Given the description of an element on the screen output the (x, y) to click on. 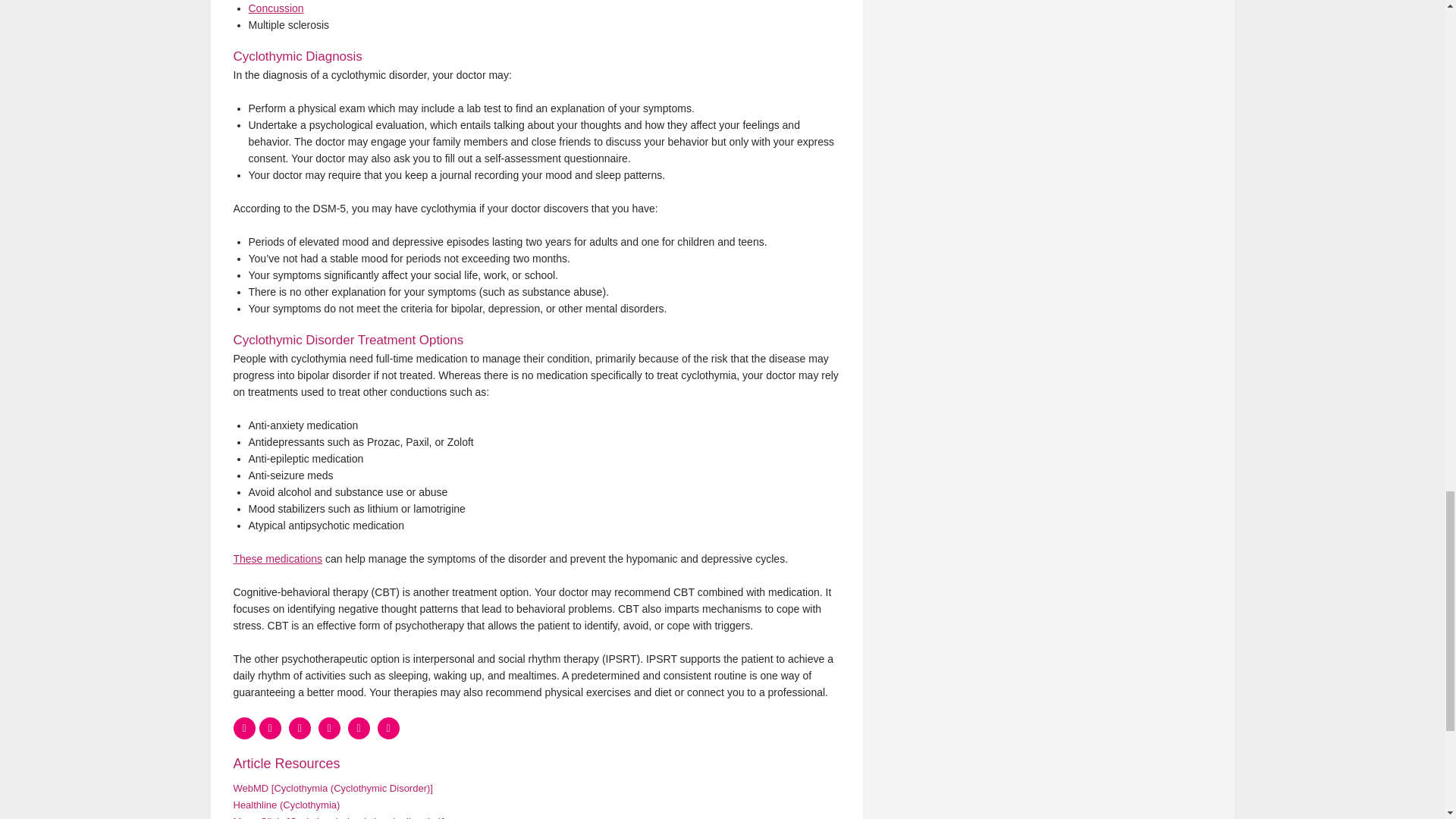
Messenger (299, 728)
Email (387, 728)
Facebook (244, 728)
Twitter (329, 728)
Pinterest (358, 728)
These medications (277, 558)
Bookmark (270, 728)
Concussion (276, 8)
